Given the description of an element on the screen output the (x, y) to click on. 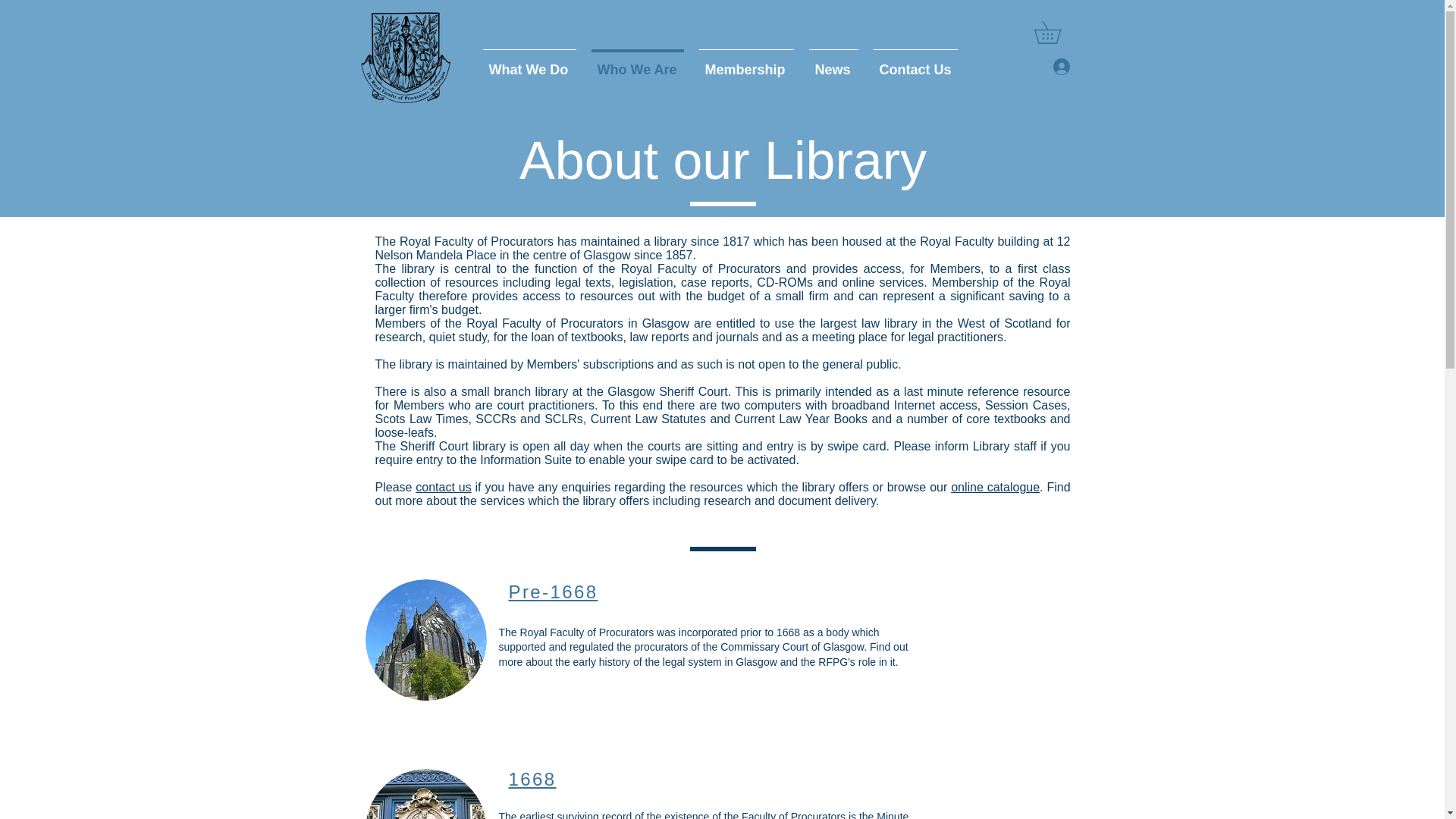
News (832, 62)
Who We Are (637, 62)
online catalogue (994, 486)
Membership (746, 62)
Contact Us (915, 62)
What We Do (528, 62)
Log In (1041, 66)
1668 (532, 779)
contact us (442, 486)
Pre-1668 (552, 591)
